Given the description of an element on the screen output the (x, y) to click on. 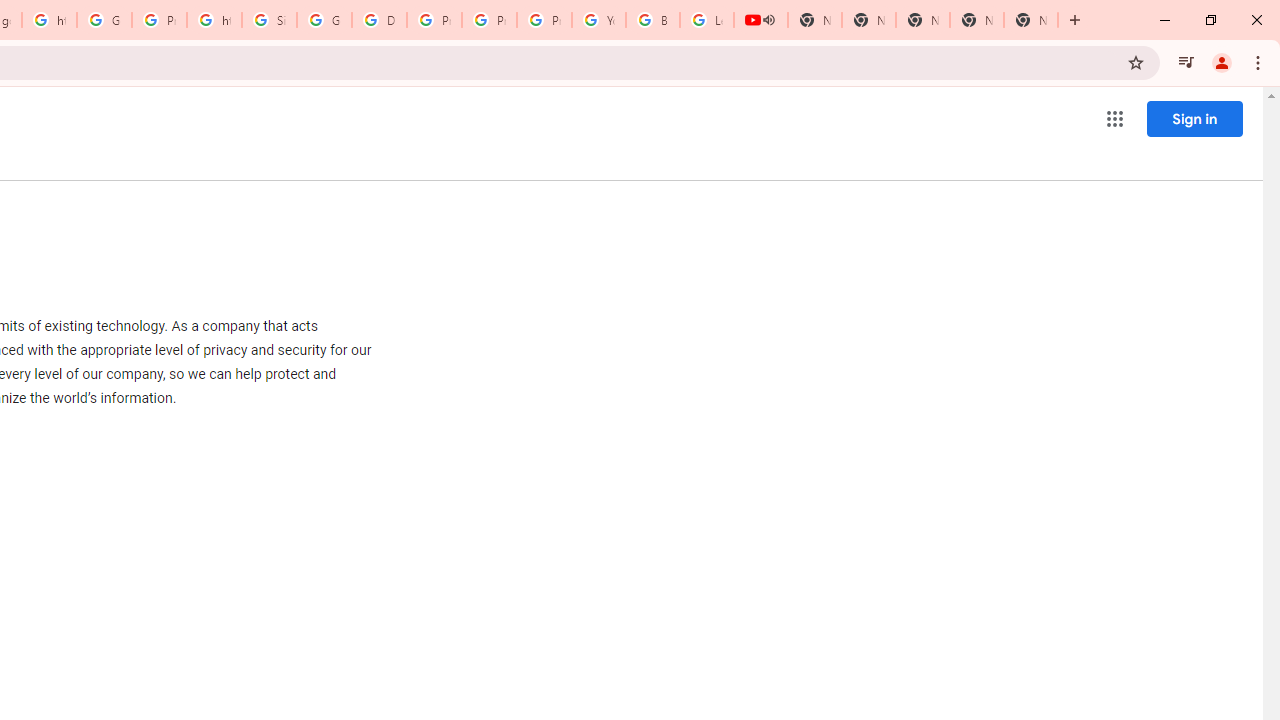
Sign in - Google Accounts (268, 20)
https://scholar.google.com/ (48, 20)
Privacy Help Center - Policies Help (434, 20)
https://scholar.google.com/ (213, 20)
YouTube (598, 20)
